Given the description of an element on the screen output the (x, y) to click on. 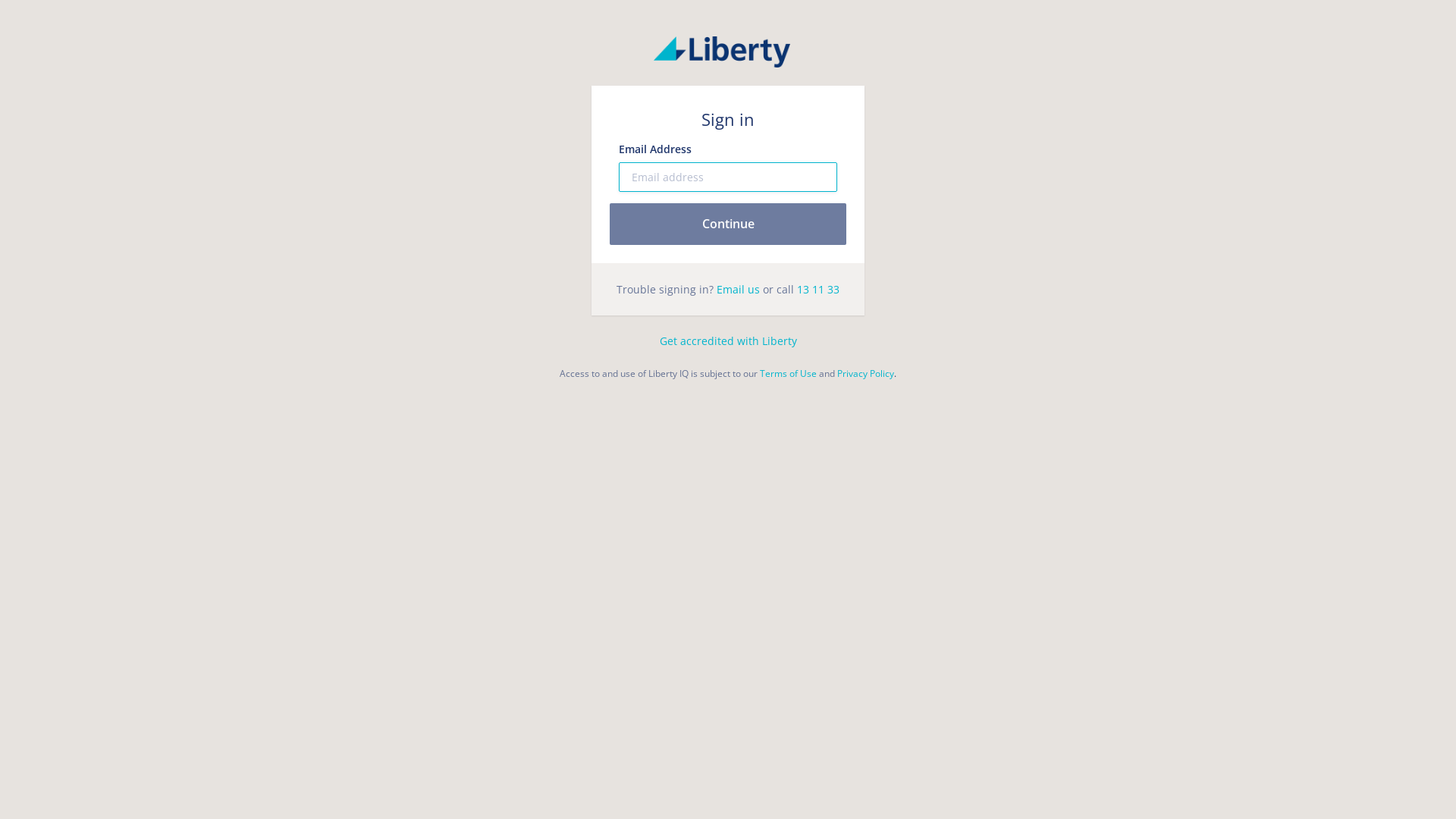
Get accredited with Liberty Element type: text (728, 340)
Privacy Policy Element type: text (865, 373)
Email us Element type: text (737, 289)
13 11 33 Element type: text (818, 289)
Terms of Use Element type: text (787, 373)
Continue Element type: text (727, 223)
